Given the description of an element on the screen output the (x, y) to click on. 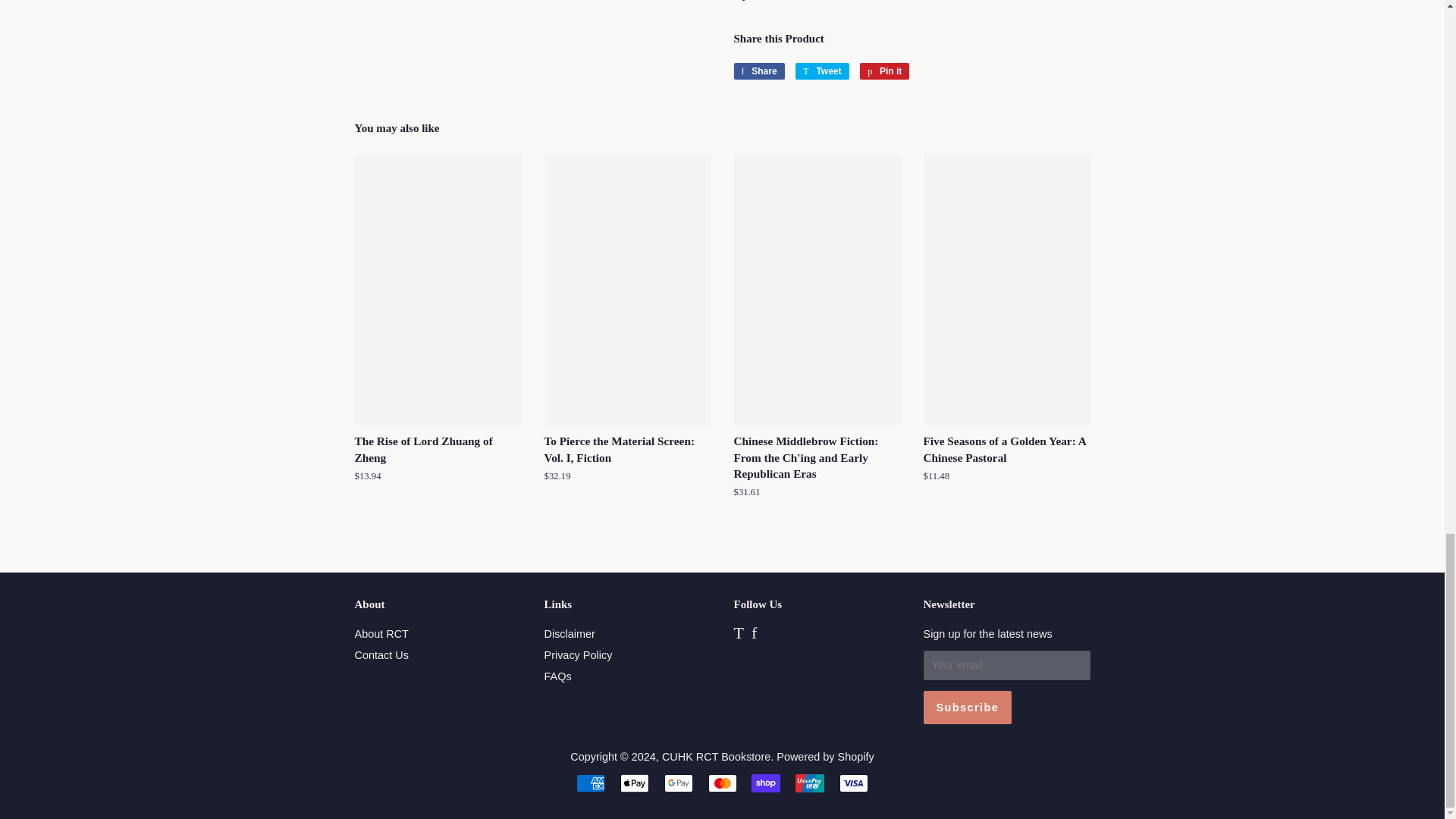
Subscribe (967, 707)
Visa (853, 782)
Share on Facebook (758, 71)
Google Pay (678, 782)
American Express (590, 782)
Apple Pay (634, 782)
Mastercard (721, 782)
Tweet on Twitter (821, 71)
Union Pay (809, 782)
Pin on Pinterest (884, 71)
Shop Pay (765, 782)
